Given the description of an element on the screen output the (x, y) to click on. 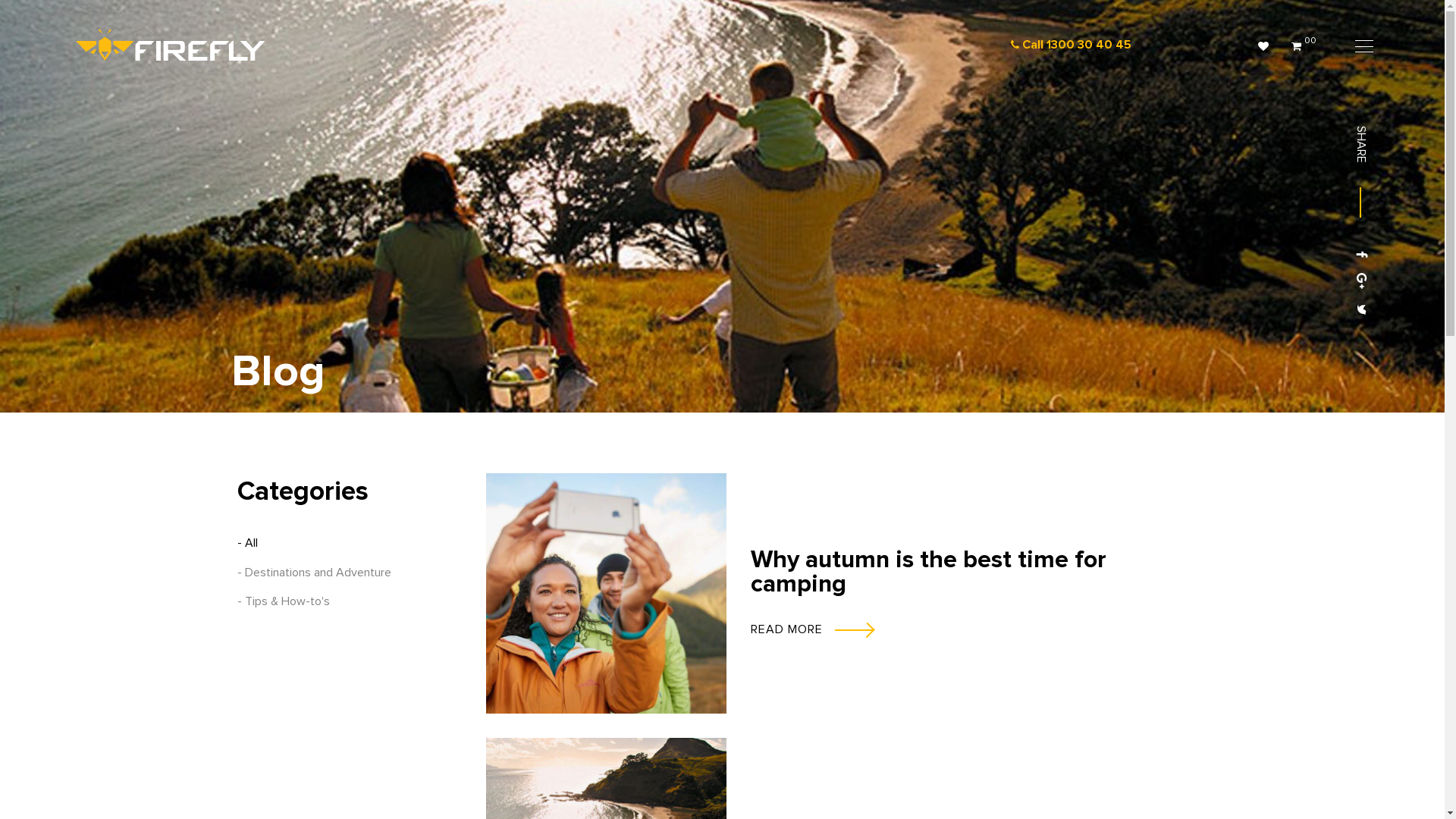
Why autumn is the best time for camping Element type: text (928, 572)
Why autumn is the best time for camping Element type: hover (605, 593)
- All Element type: text (348, 542)
- Destinations and Adventure Element type: text (348, 572)
Call 1300 30 40 45 Element type: text (1090, 46)
READ MORE Element type: text (966, 629)
- Tips & How-to's Element type: text (348, 600)
